Given the description of an element on the screen output the (x, y) to click on. 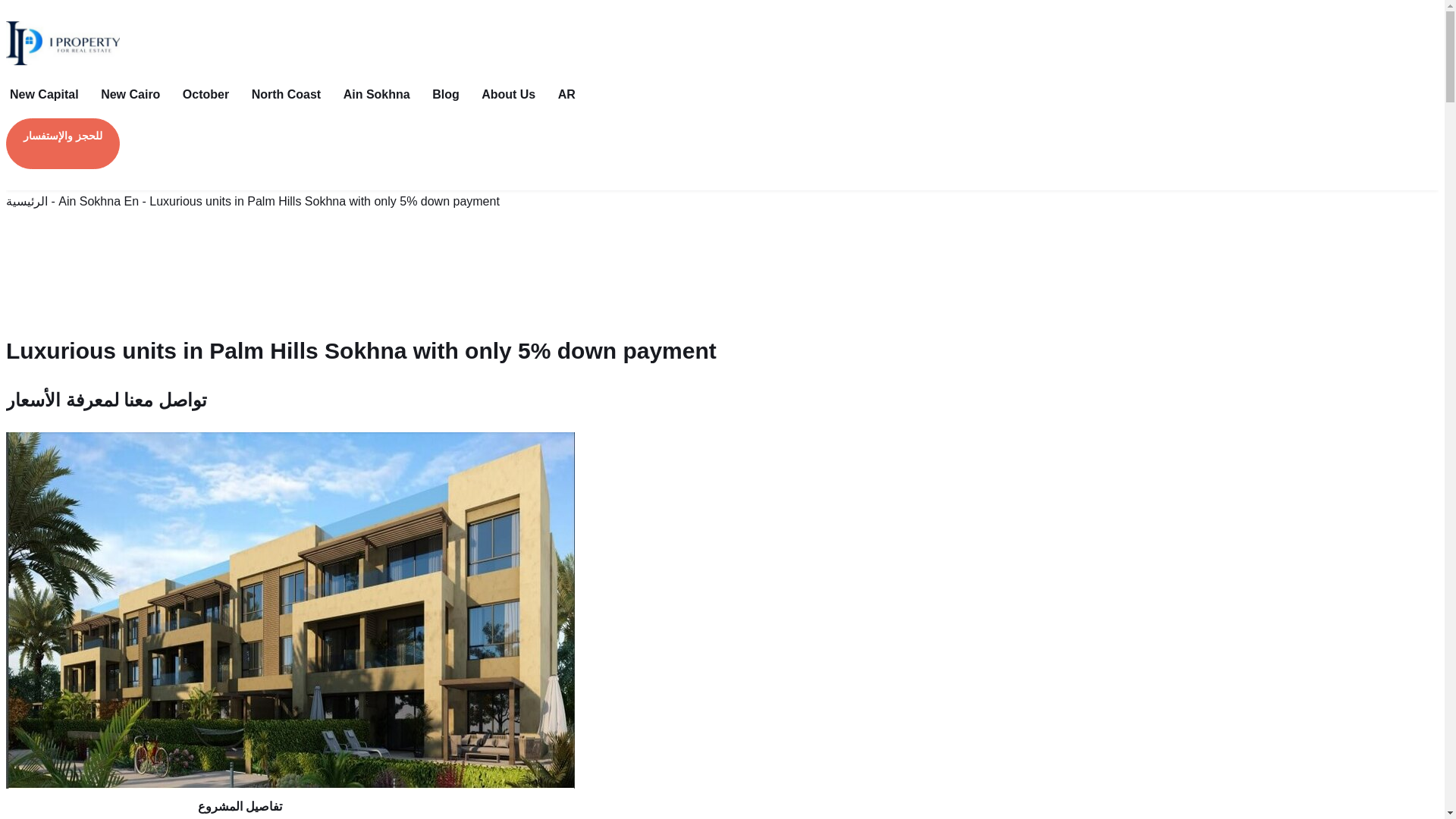
Ain Sokhna (382, 94)
October (211, 94)
Ain Sokhna En (98, 201)
North Coast (291, 94)
New Capital (49, 94)
About Us (513, 94)
New Cairo (135, 94)
Blog (451, 94)
